Given the description of an element on the screen output the (x, y) to click on. 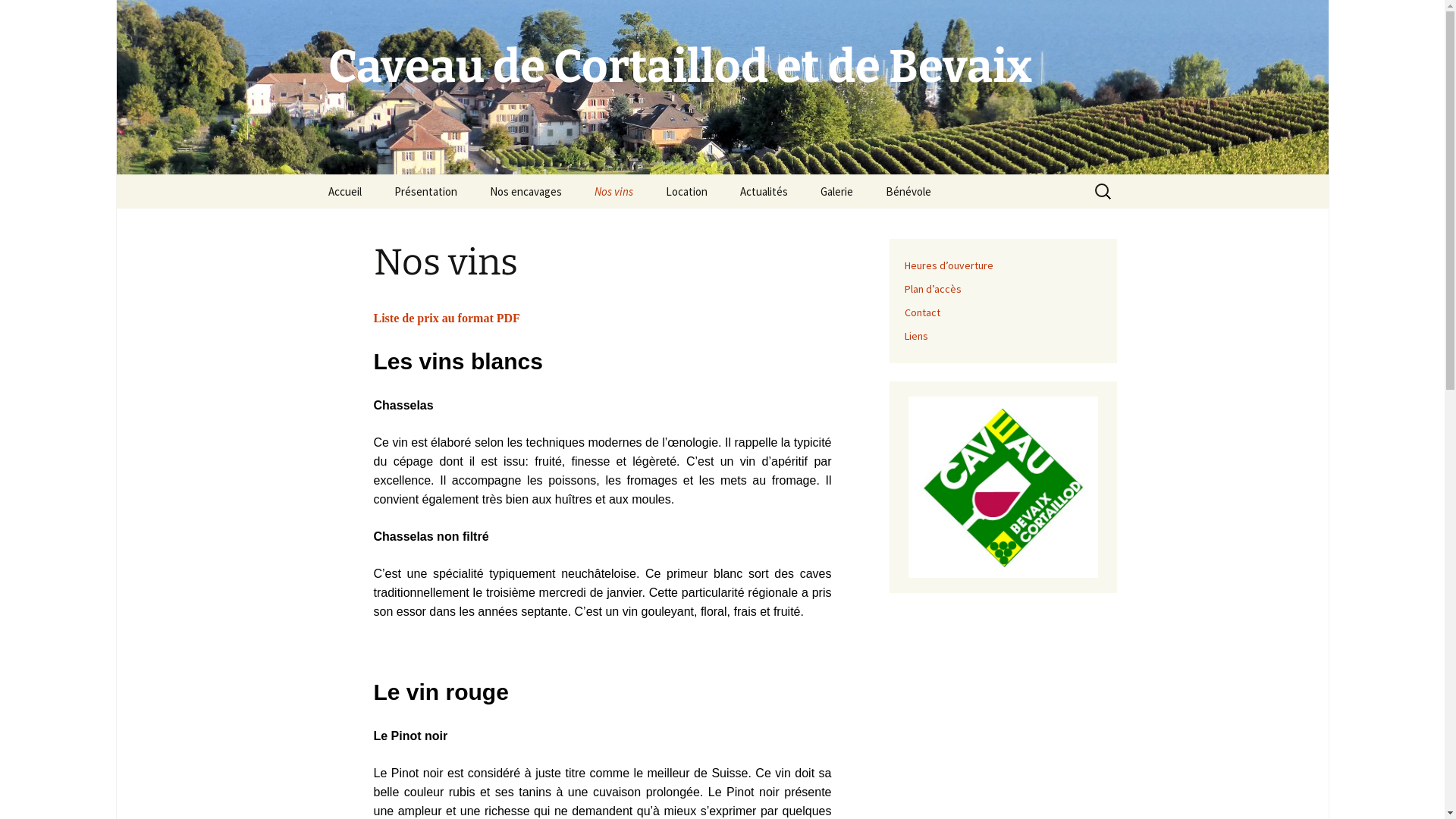
Liste de prix au format PDF Element type: text (446, 317)
Nos vins Element type: text (613, 191)
Domaine Brunner Element type: text (550, 225)
Aller au contenu Element type: text (312, 173)
Vins blancs Element type: text (655, 225)
Accueil Element type: text (344, 191)
Caveau de Cortaillod et de Bevaix Element type: text (721, 87)
Liens Element type: text (915, 335)
Contact Element type: text (921, 312)
Rechercher Element type: text (18, 16)
Nos encavages Element type: text (525, 191)
Galerie Element type: text (836, 191)
Location Element type: text (686, 191)
